Given the description of an element on the screen output the (x, y) to click on. 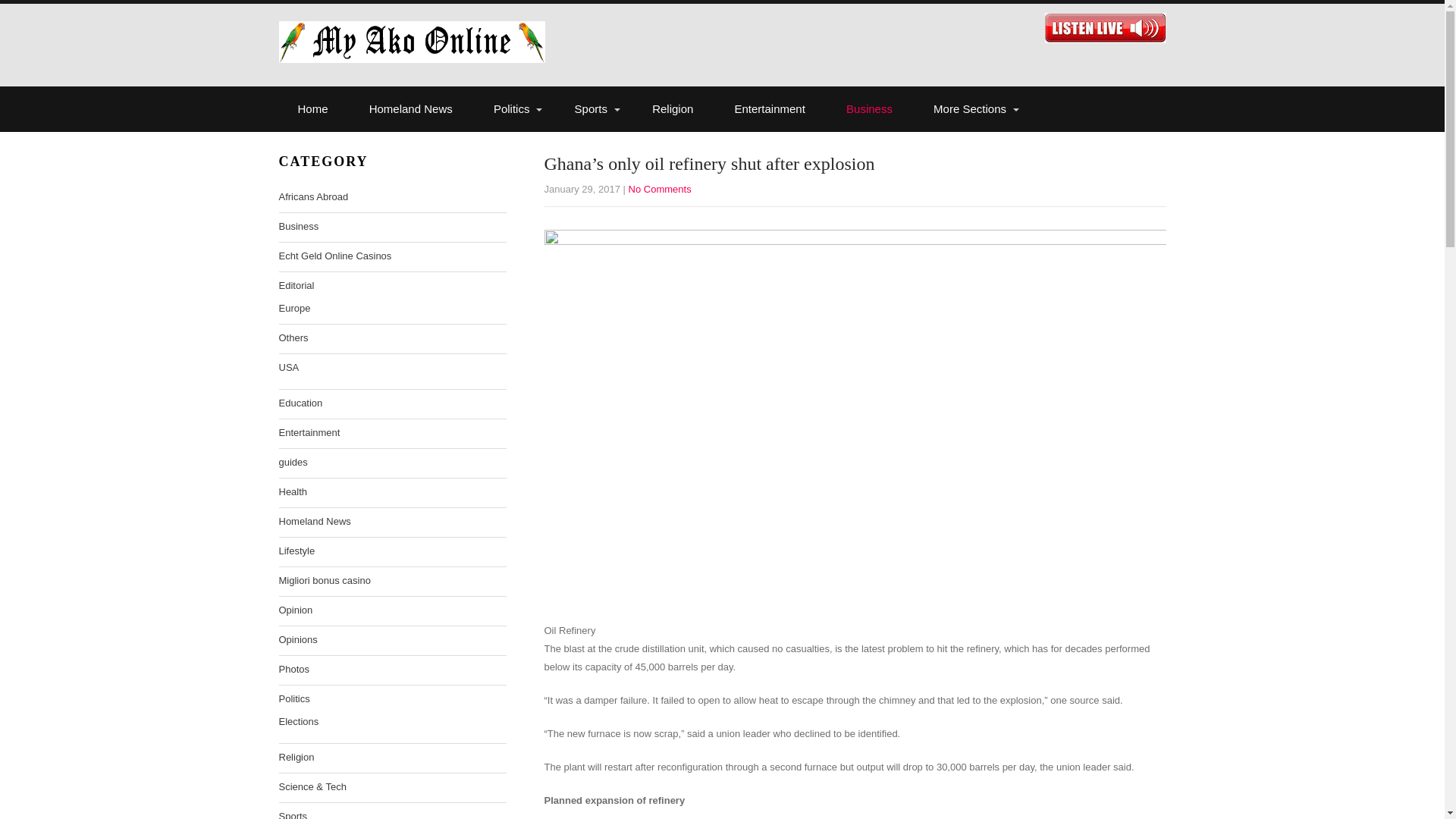
Sports (593, 108)
Home (313, 108)
Politics (513, 108)
Religion (672, 108)
More Sections (971, 108)
Business (869, 108)
Homeland News (410, 108)
No Comments (659, 188)
Entertainment (770, 108)
